Given the description of an element on the screen output the (x, y) to click on. 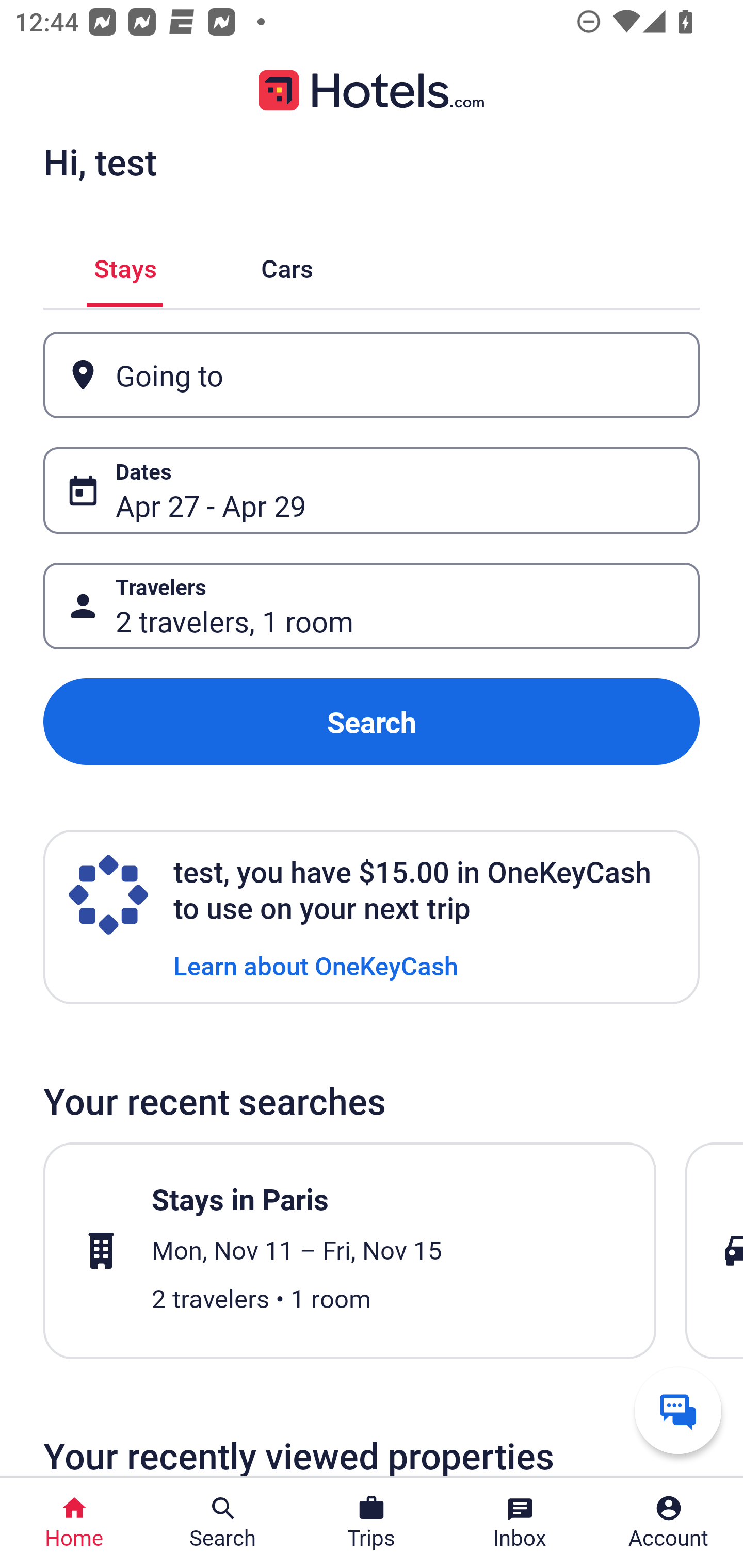
Hi, test (99, 161)
Cars (286, 265)
Going to Button (371, 375)
Dates Button Apr 27 - Apr 29 (371, 489)
Travelers Button 2 travelers, 1 room (371, 605)
Search (371, 721)
Learn about OneKeyCash Learn about OneKeyCash Link (315, 964)
Get help from a virtual agent (677, 1410)
Search Search Button (222, 1522)
Trips Trips Button (371, 1522)
Inbox Inbox Button (519, 1522)
Account Profile. Button (668, 1522)
